Given the description of an element on the screen output the (x, y) to click on. 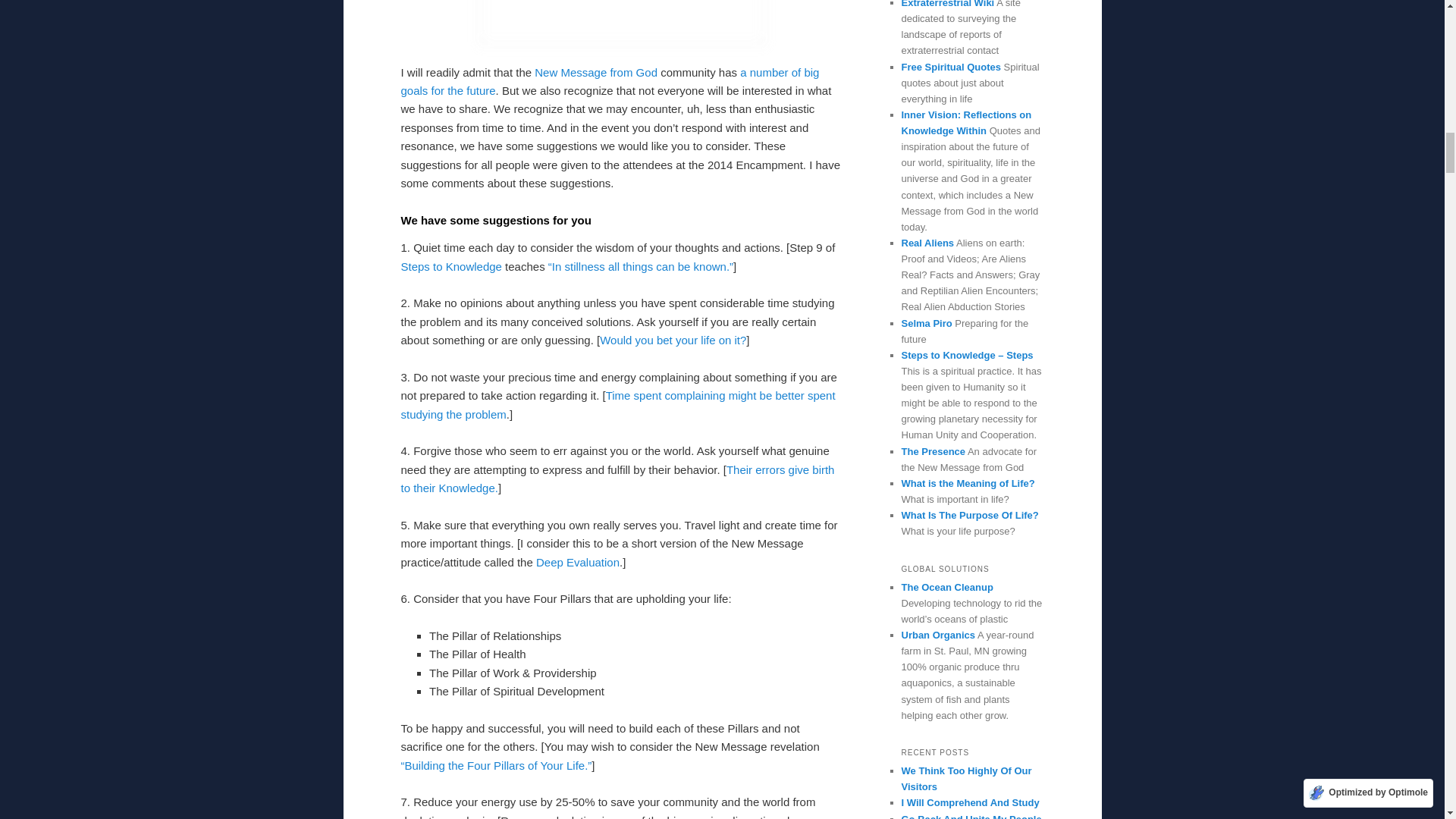
The New Message from God (596, 72)
Mystery of Ascension: We Have A Plan To Reach The Goal (609, 81)
